Given the description of an element on the screen output the (x, y) to click on. 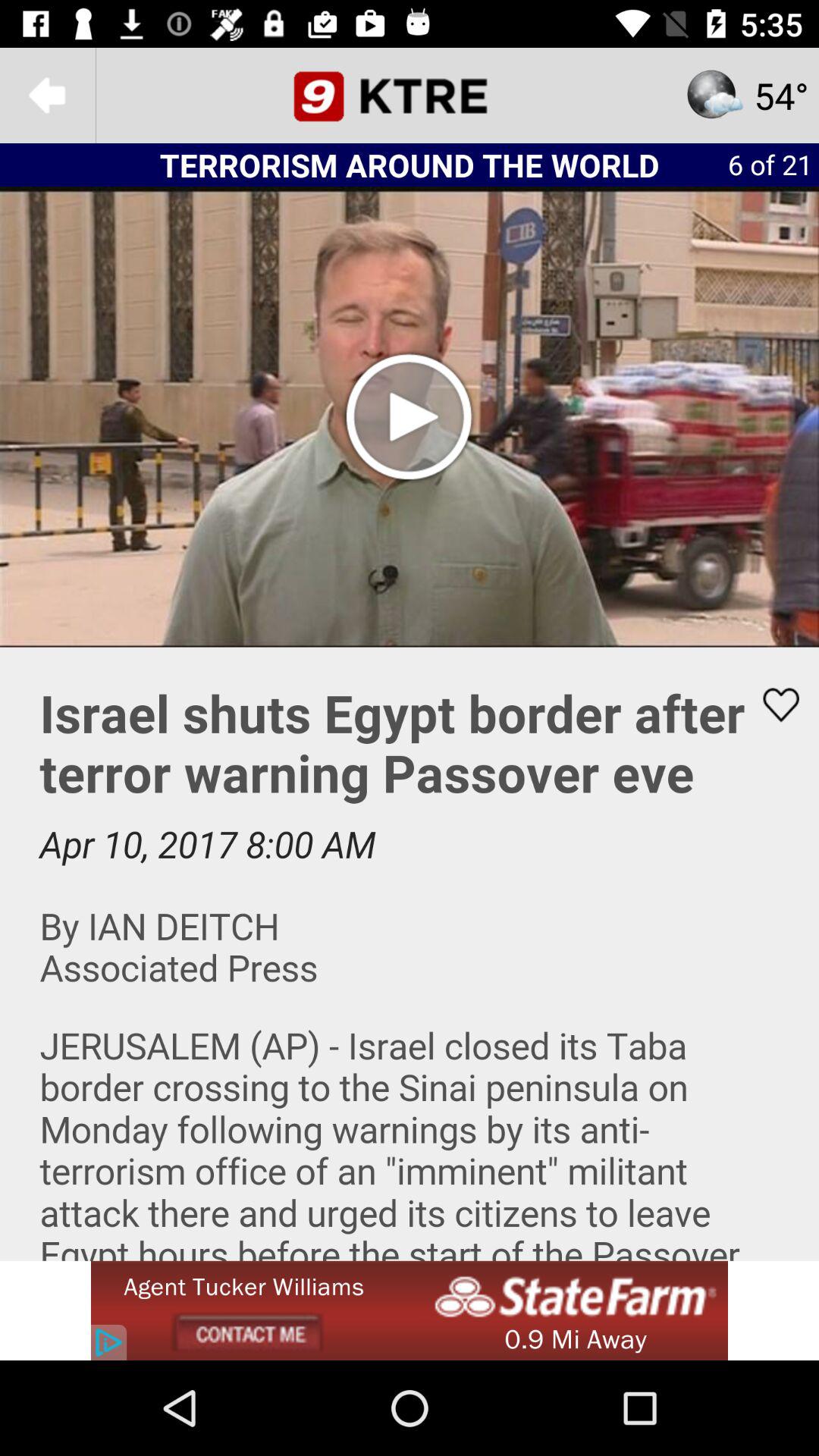
favorite this article (771, 704)
